Given the description of an element on the screen output the (x, y) to click on. 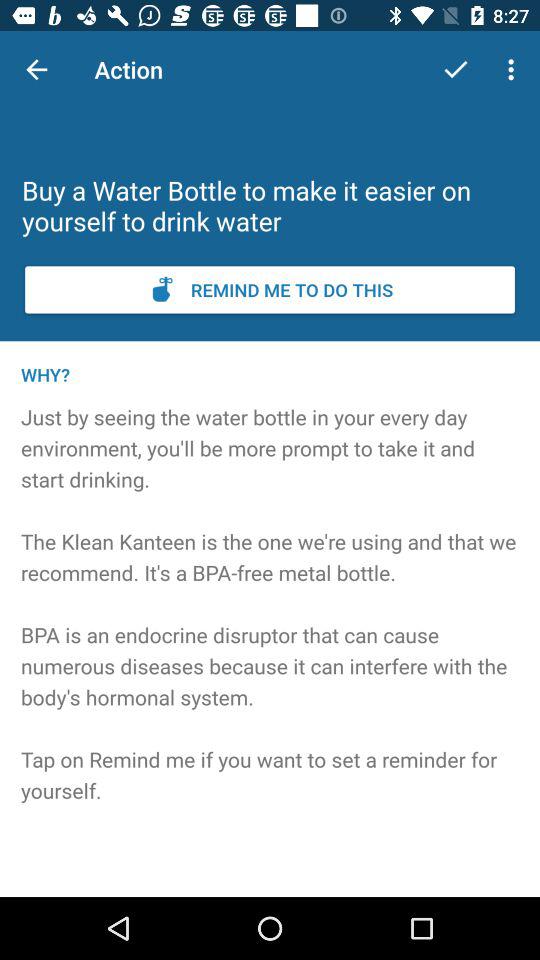
click the item above buy a water icon (513, 69)
